Given the description of an element on the screen output the (x, y) to click on. 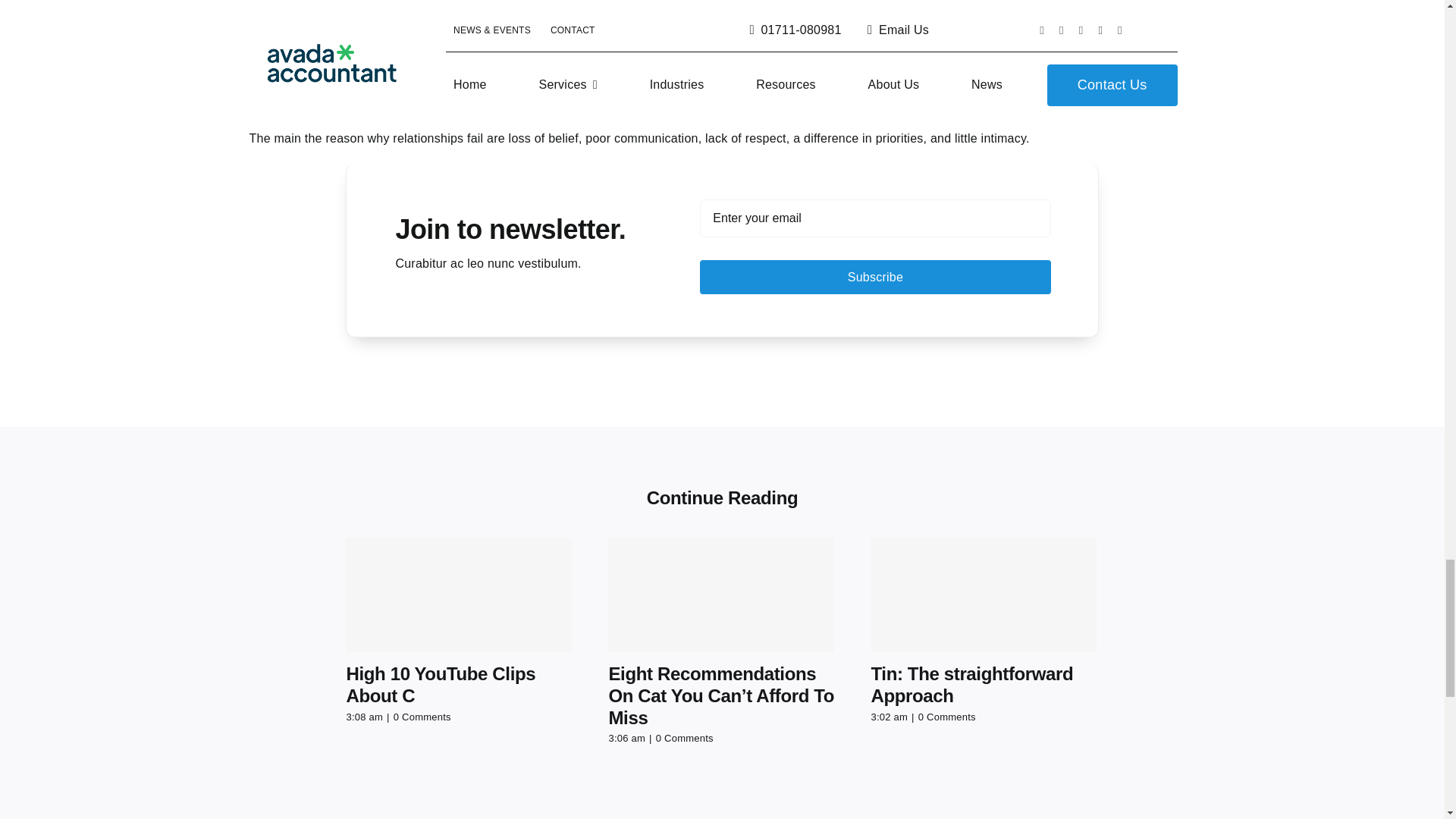
Tin: The straightforward Approach (971, 684)
High 10 YouTube Clips About C (440, 684)
Subscribe (875, 247)
